Given the description of an element on the screen output the (x, y) to click on. 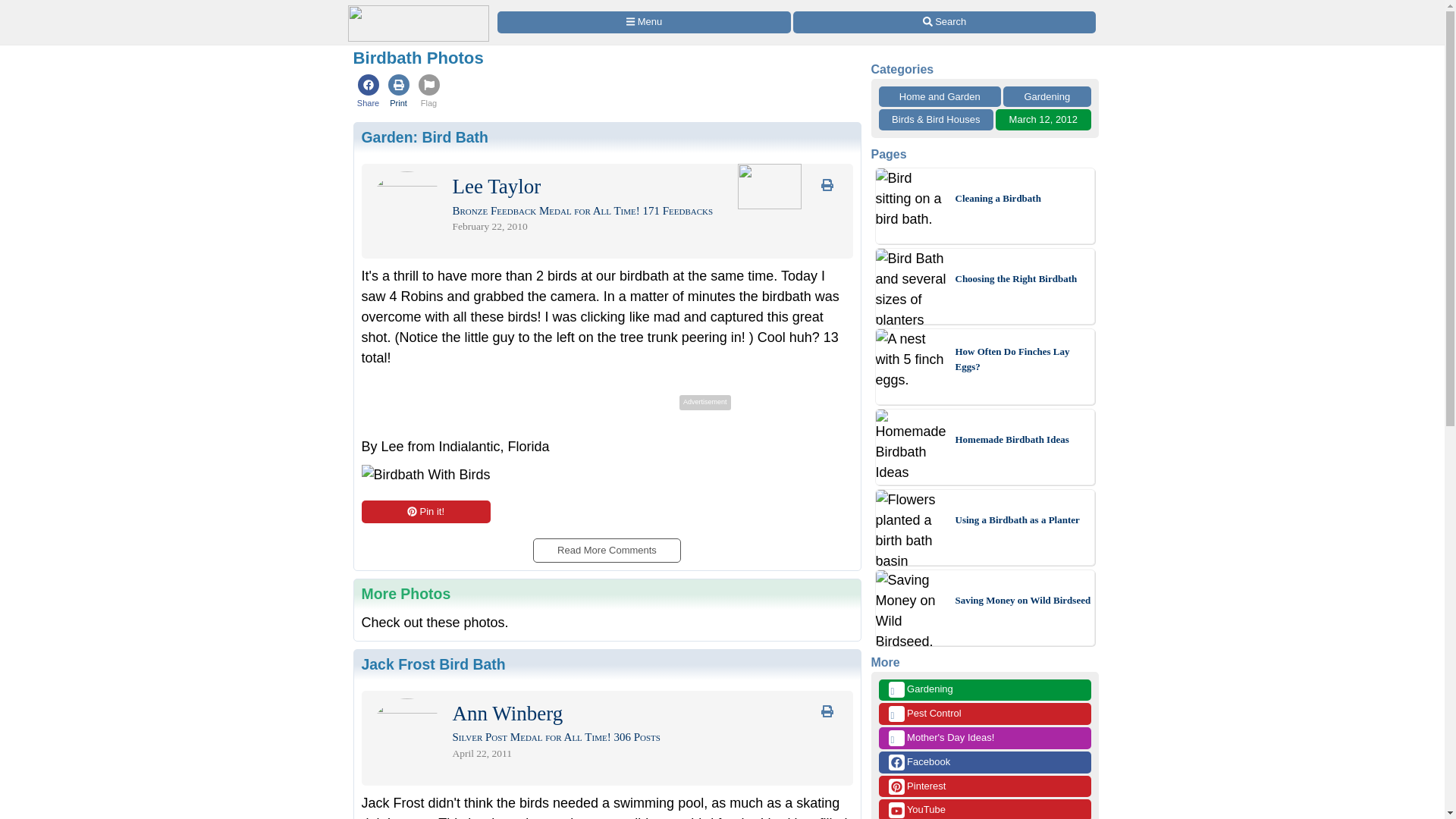
Jack Frost Bird Bath (433, 664)
Lee Taylor (495, 189)
 Pin it! (425, 511)
Ann Winberg (506, 716)
Read More Comments (605, 544)
Garden: Bird Bath (424, 136)
